Given the description of an element on the screen output the (x, y) to click on. 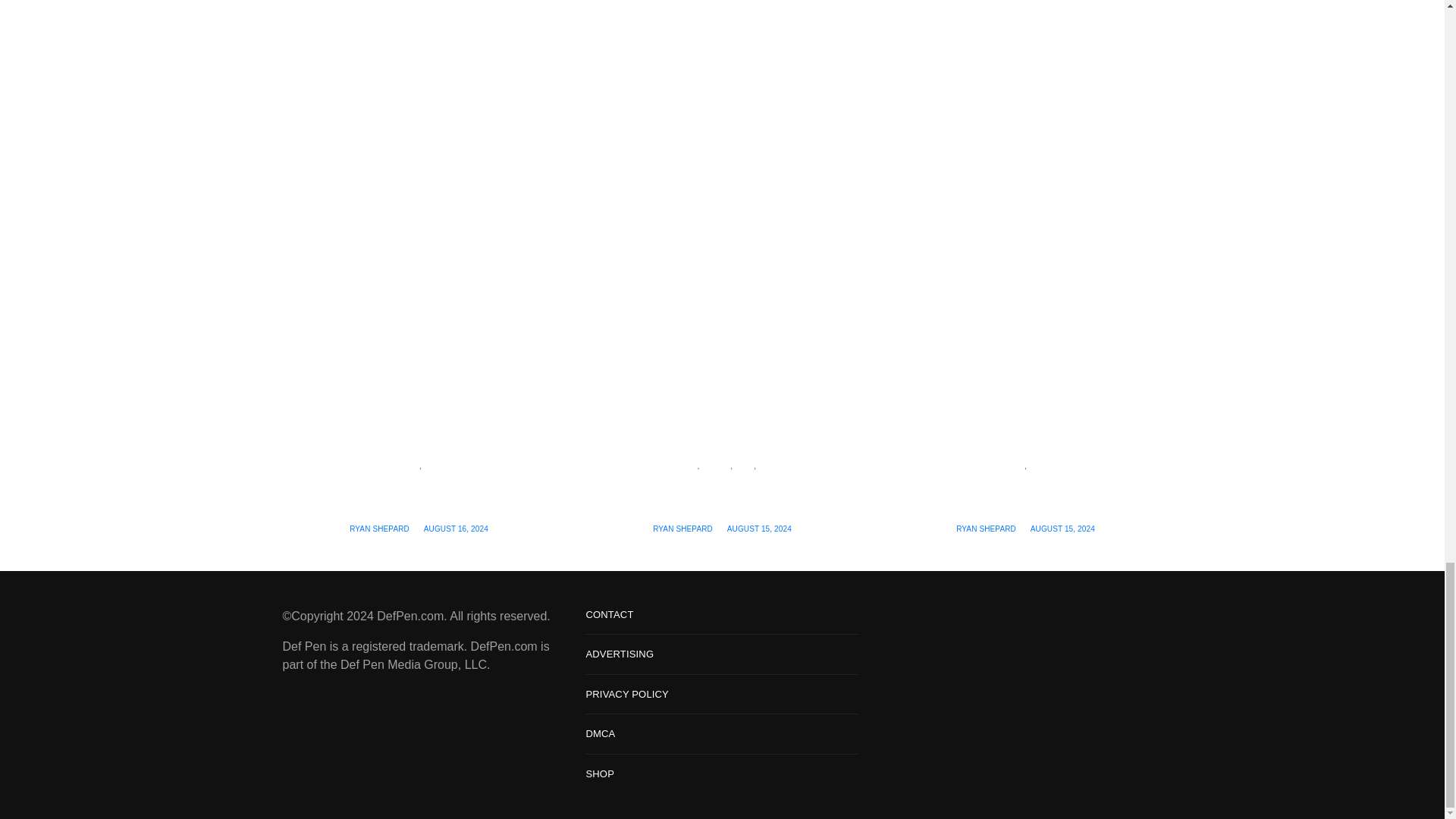
View all posts by Ryan Shepard (379, 528)
View all posts by Ryan Shepard (986, 528)
View all posts by Ryan Shepard (682, 528)
